Given the description of an element on the screen output the (x, y) to click on. 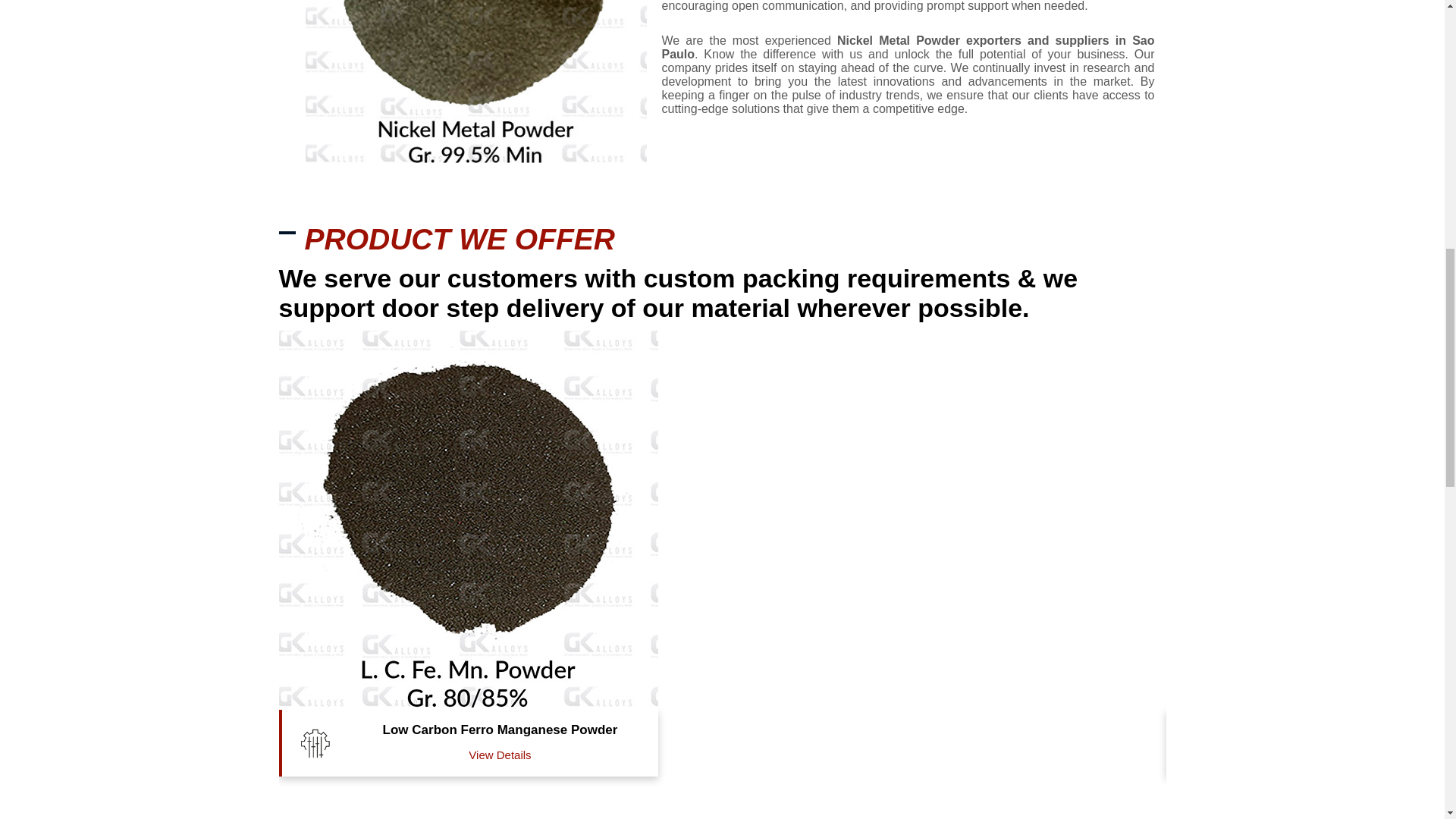
Nickel Metal Powder In Sao Paulo (475, 81)
